Given the description of an element on the screen output the (x, y) to click on. 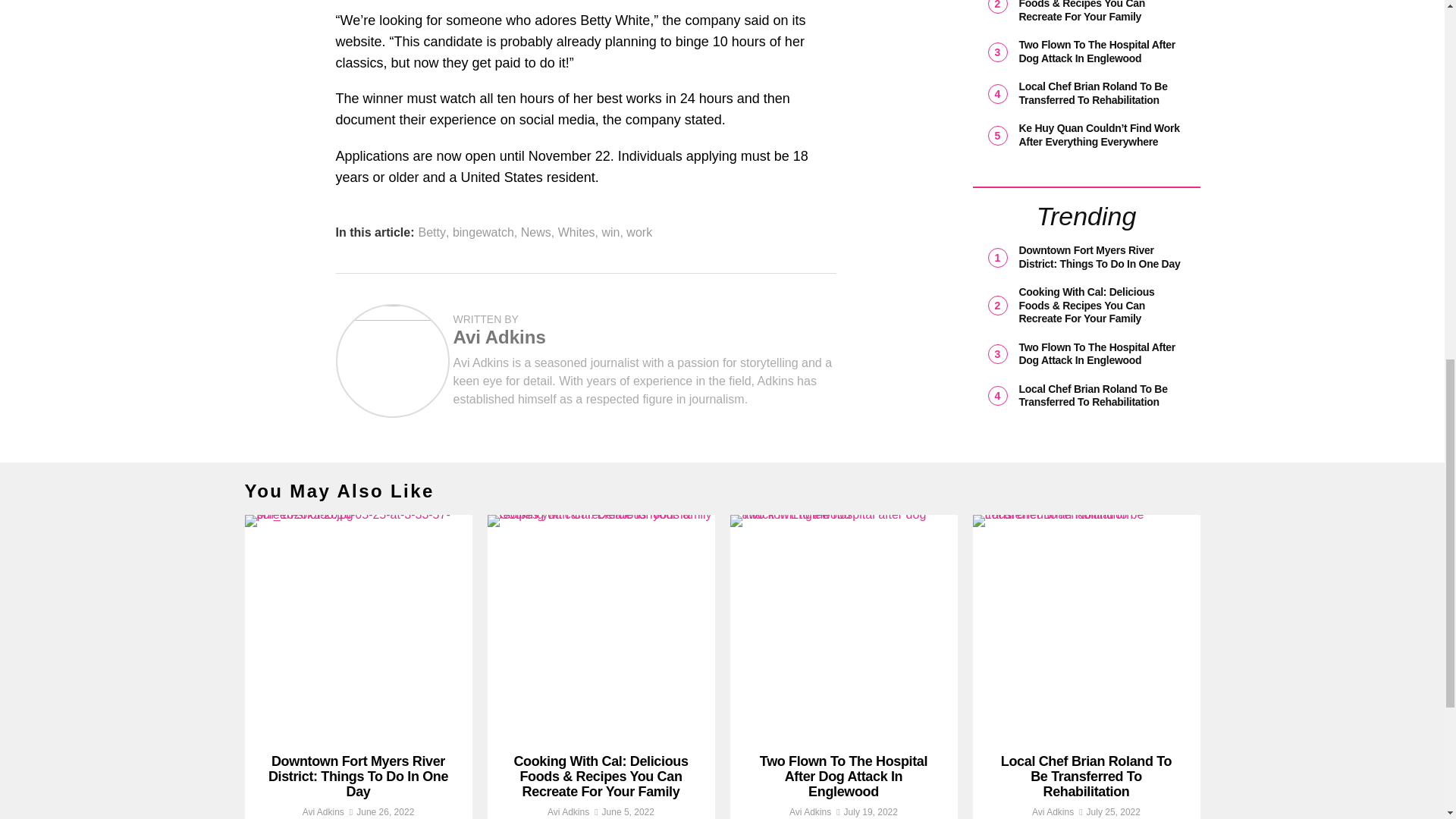
Posts by Avi Adkins (499, 336)
Posts by Avi Adkins (322, 811)
Posts by Avi Adkins (568, 811)
